Given the description of an element on the screen output the (x, y) to click on. 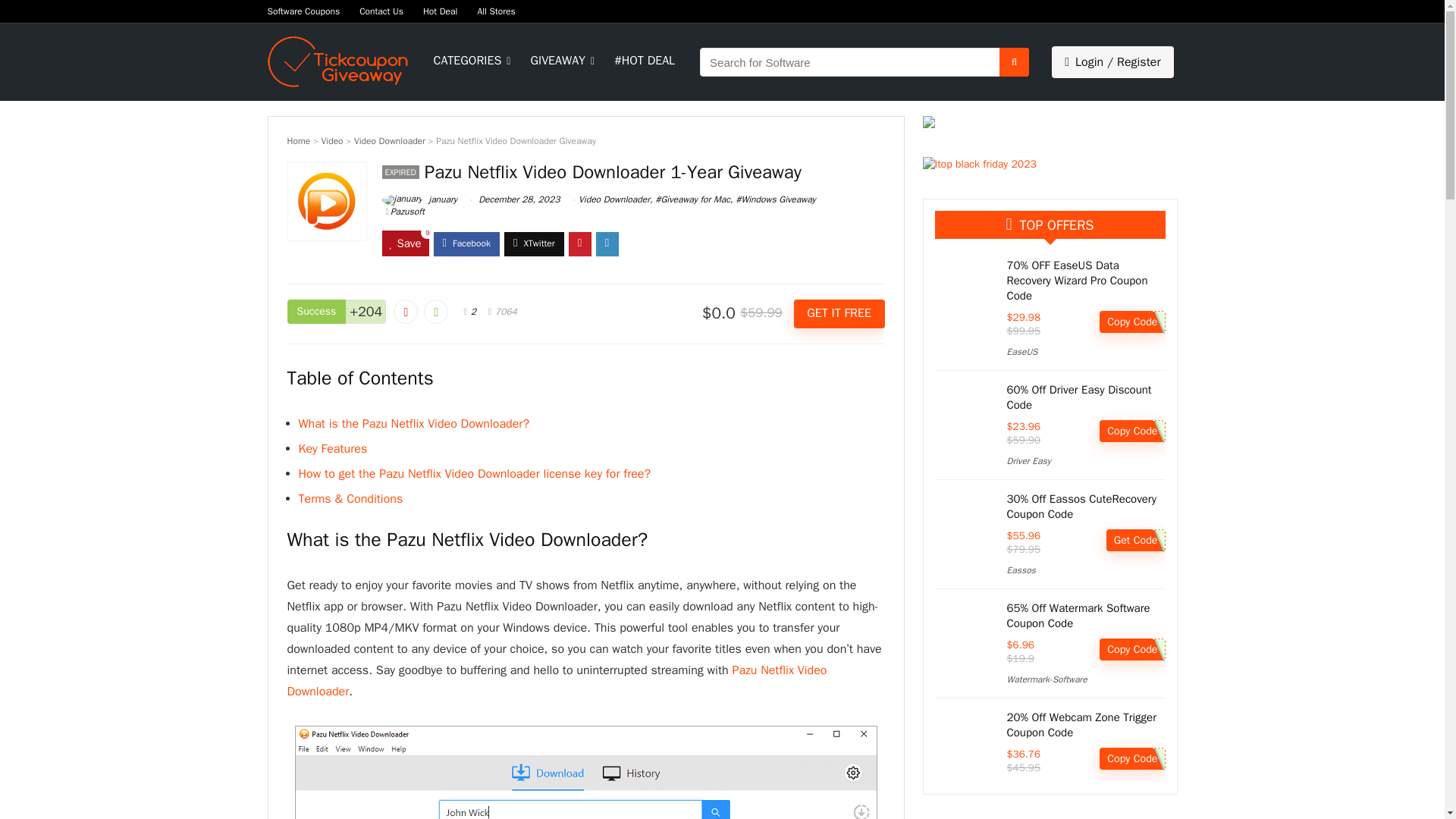
CATEGORIES (470, 61)
january (419, 199)
pazu netflix video downloader main screenshot (585, 772)
All Stores (496, 10)
Pazu Netflix Video Downloader (556, 680)
Key Features (333, 448)
Home (298, 141)
GET IT FREE (839, 313)
Vote down (405, 311)
